Given the description of an element on the screen output the (x, y) to click on. 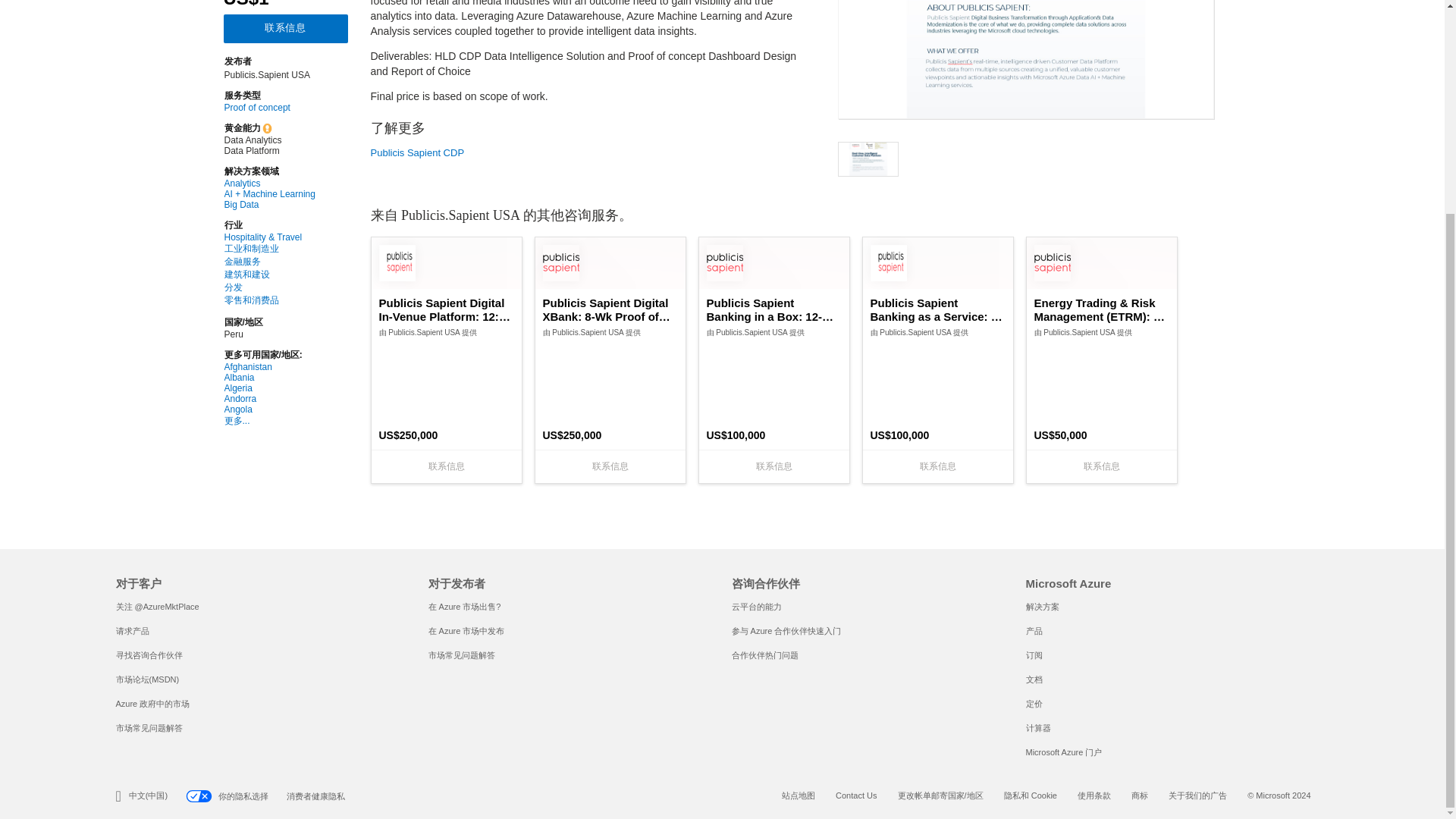
Publicis Sapient Banking as a Service: 8-Wk Proof of Concept (938, 309)
Publicis Sapient Banking in a Box: 12-Wk Proof of Concept (773, 309)
Publicis Sapient Digital XBank: 8-Wk Proof of Concept (610, 309)
